Given the description of an element on the screen output the (x, y) to click on. 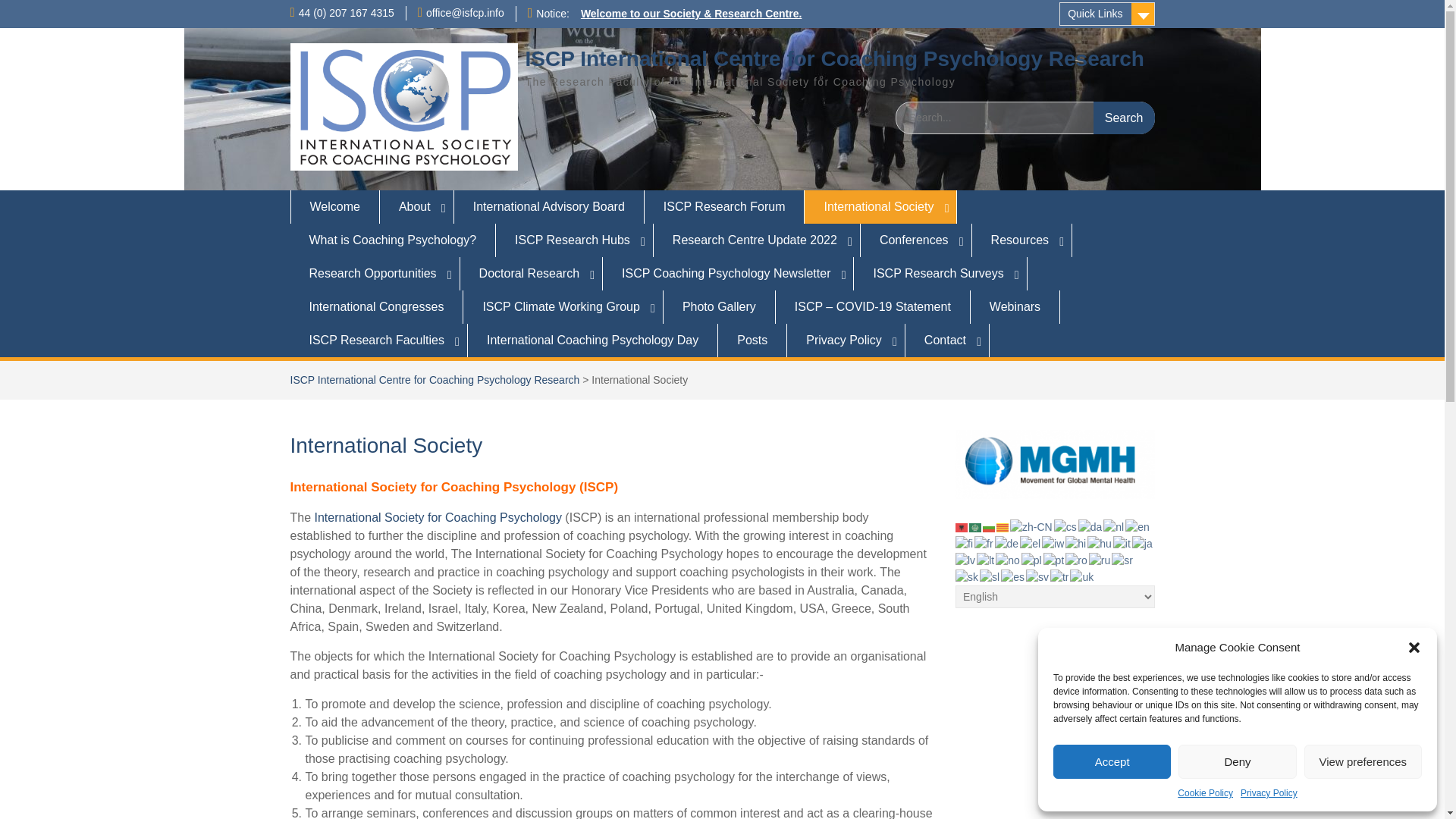
Arabic (975, 526)
Search (1123, 117)
Privacy Policy (1268, 793)
French (984, 542)
Cookie Policy (1205, 793)
Czech (1066, 526)
German (1007, 542)
Search for: (1024, 117)
Albanian (962, 526)
Deny (1236, 761)
Dutch (1114, 526)
Finnish (964, 542)
Accept (1111, 761)
Danish (1090, 526)
View preferences (1363, 761)
